Given the description of an element on the screen output the (x, y) to click on. 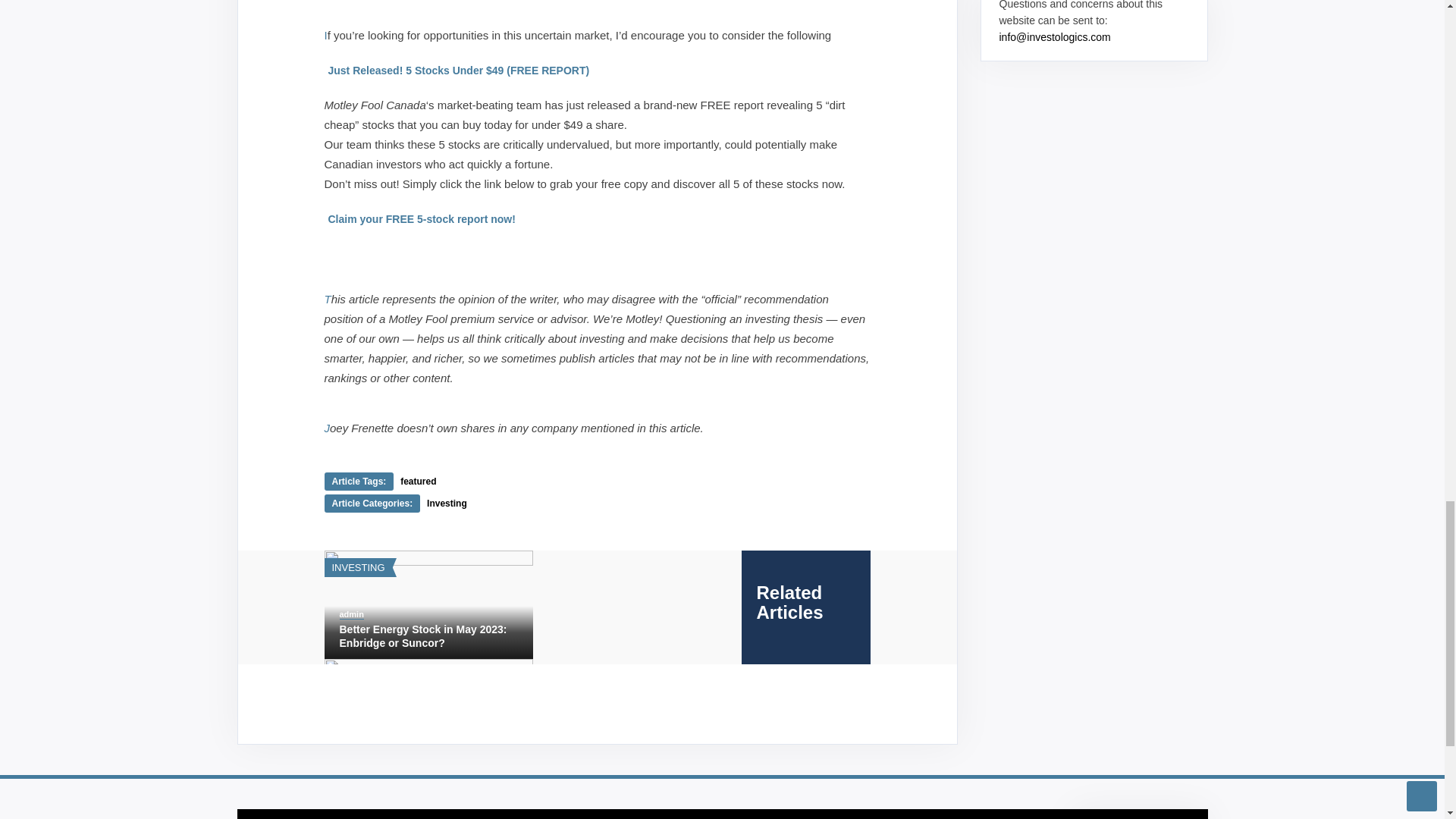
INVESTING (358, 567)
Investing (446, 502)
featured (417, 480)
Posts by admin (351, 614)
View all posts in Investing (358, 567)
Better Energy Stock in May 2023: Enbridge or Suncor? (428, 636)
Claim your FREE 5-stock report now! (421, 218)
admin (351, 614)
